Given the description of an element on the screen output the (x, y) to click on. 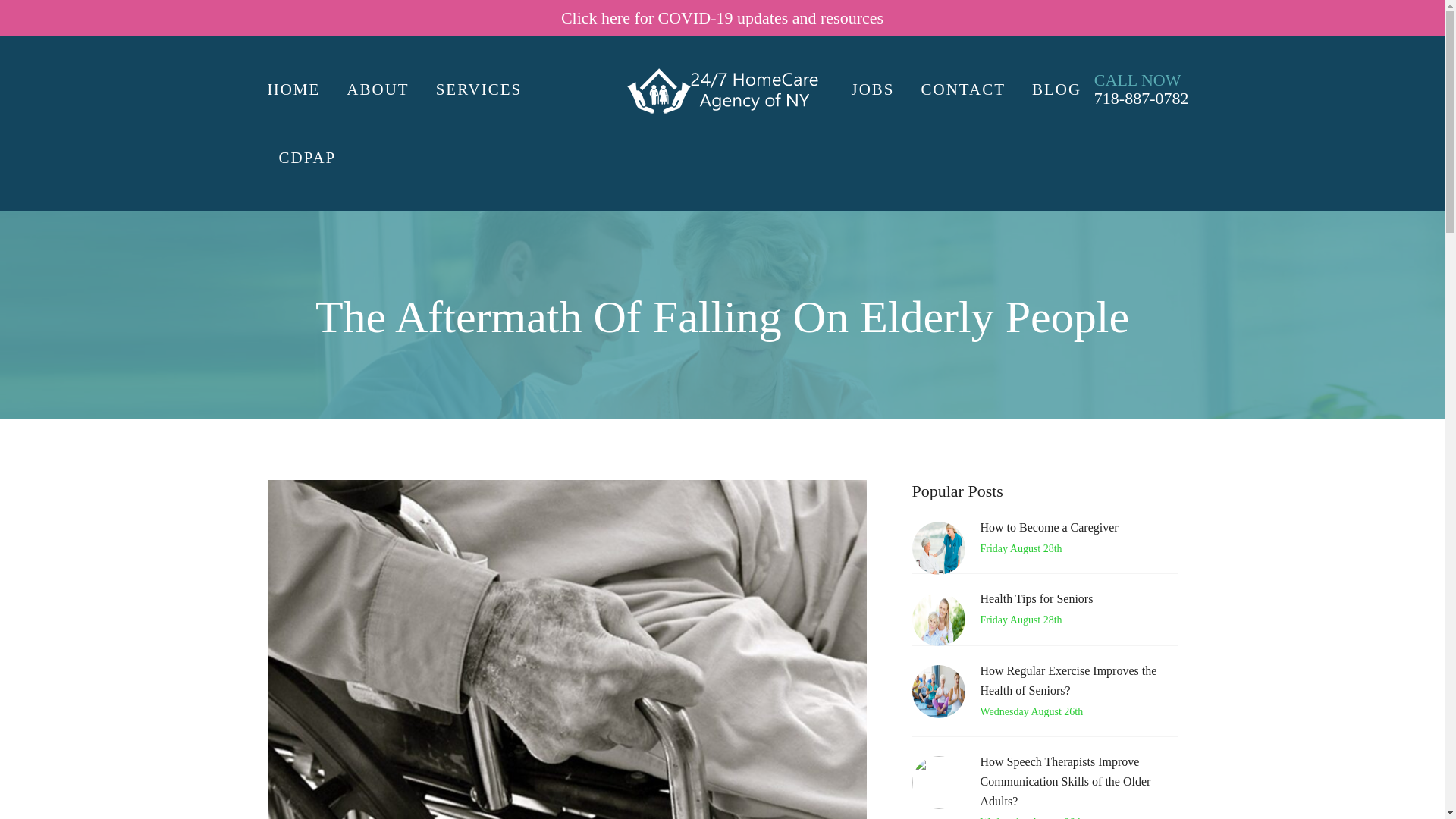
Health Tips for Seniors Element type: text (1077, 602)
JOBS Element type: text (877, 89)
CALL NOW
718-887-0782 Element type: text (1141, 88)
HOME Element type: text (298, 89)
BLOG Element type: text (1056, 89)
How to Become a Caregiver Element type: text (1077, 531)
CDPAP Element type: text (306, 157)
How Regular Exercise Improves the Health of Seniors? Element type: text (1077, 684)
ABOUT Element type: text (377, 89)
SERVICES Element type: text (478, 89)
CONTACT Element type: text (963, 89)
Click here for COVID-19 updates and resources Element type: text (722, 17)
